Given the description of an element on the screen output the (x, y) to click on. 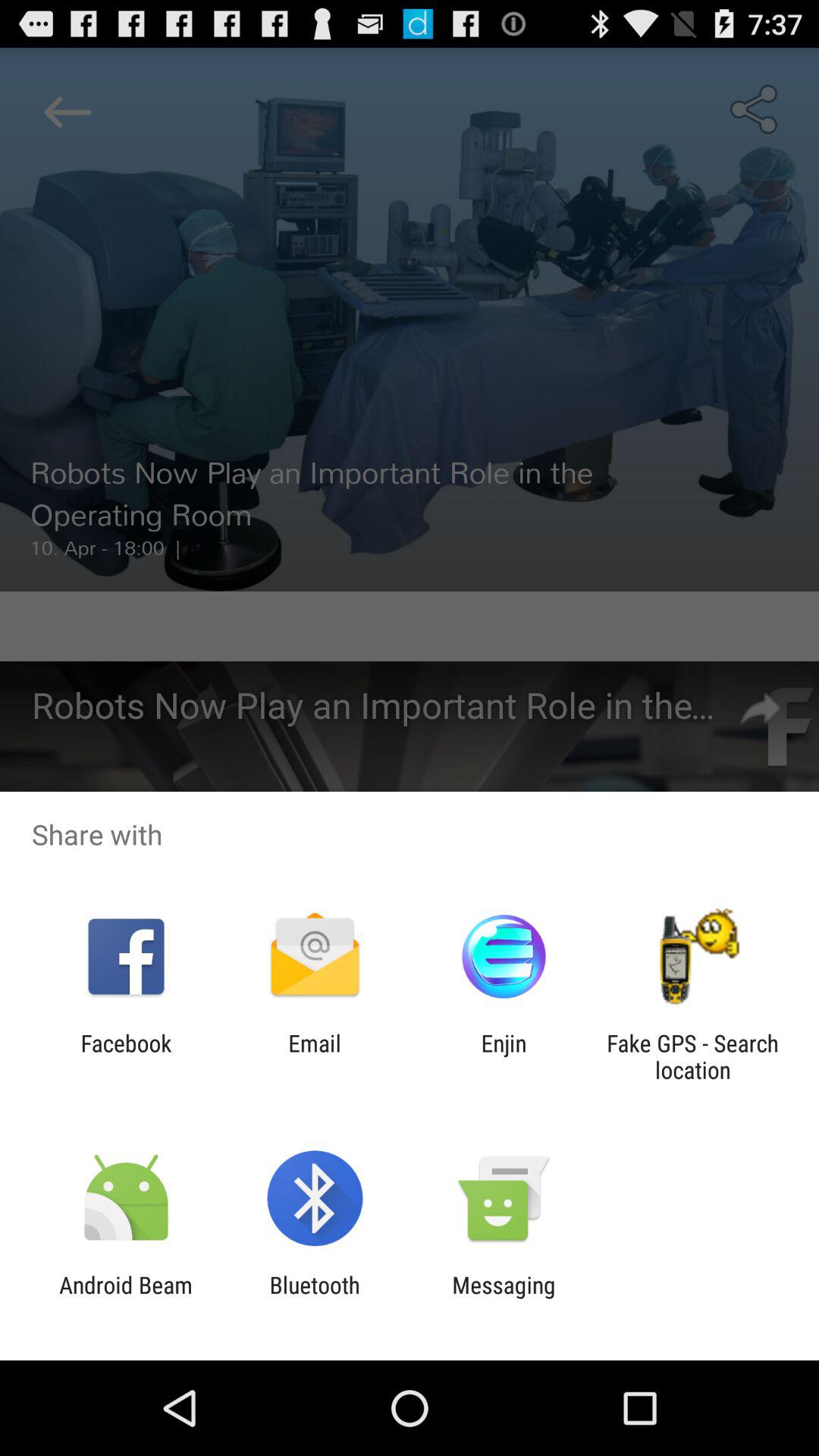
tap app to the right of the bluetooth app (503, 1298)
